Given the description of an element on the screen output the (x, y) to click on. 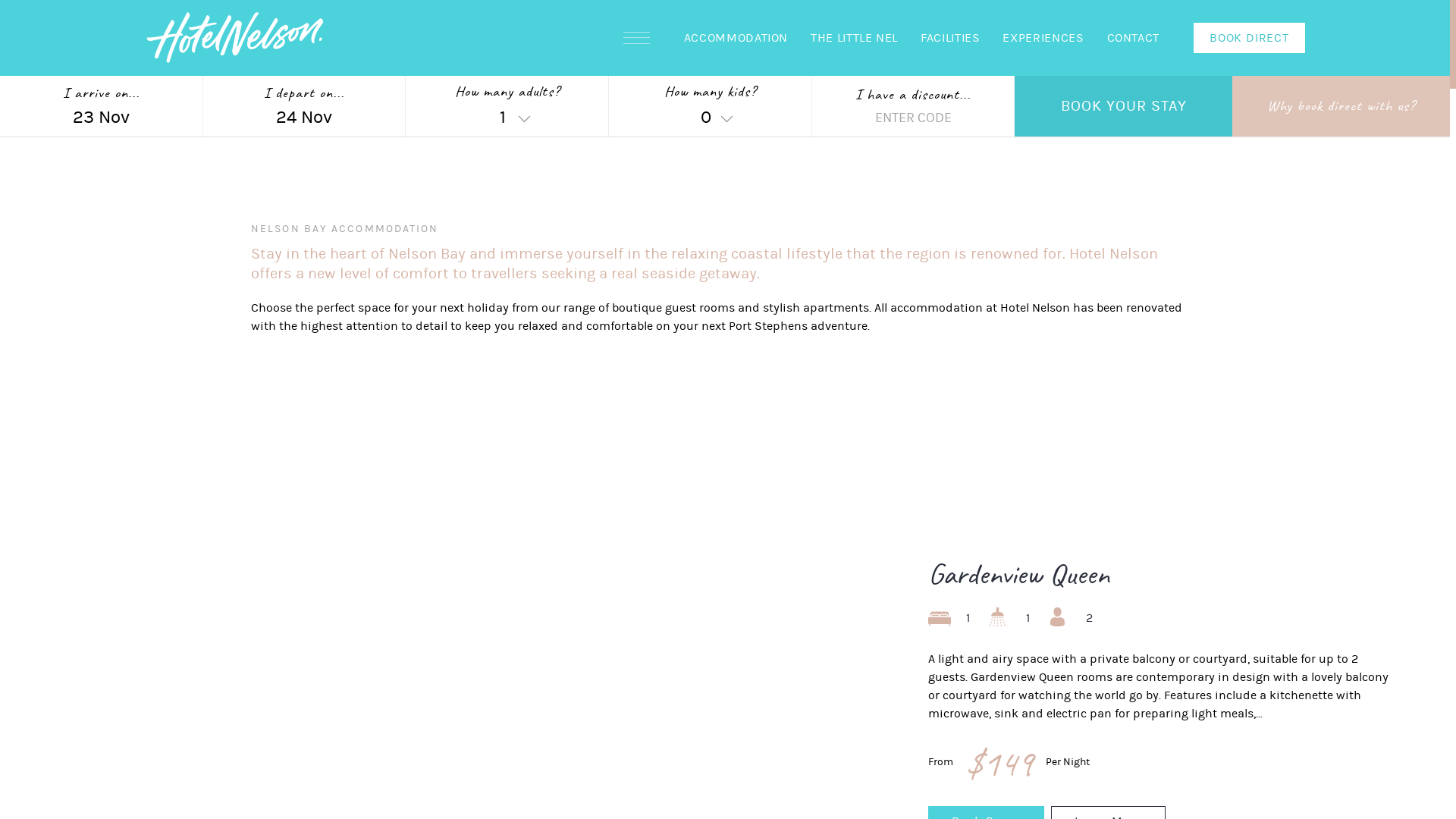
BOOK DIRECT Element type: text (1249, 37)
Gardenview Queen Element type: text (1018, 574)
EXPERIENCES Element type: text (1043, 37)
THE LITTLE NEL Element type: text (854, 37)
ACCOMMODATION Element type: text (735, 37)
Hotel Nelson Element type: hover (234, 37)
Why book direct with us? Element type: text (1340, 105)
CONTACT Element type: text (1132, 37)
FACILITIES Element type: text (950, 37)
BOOK YOUR STAY Element type: text (1123, 105)
